Given the description of an element on the screen output the (x, y) to click on. 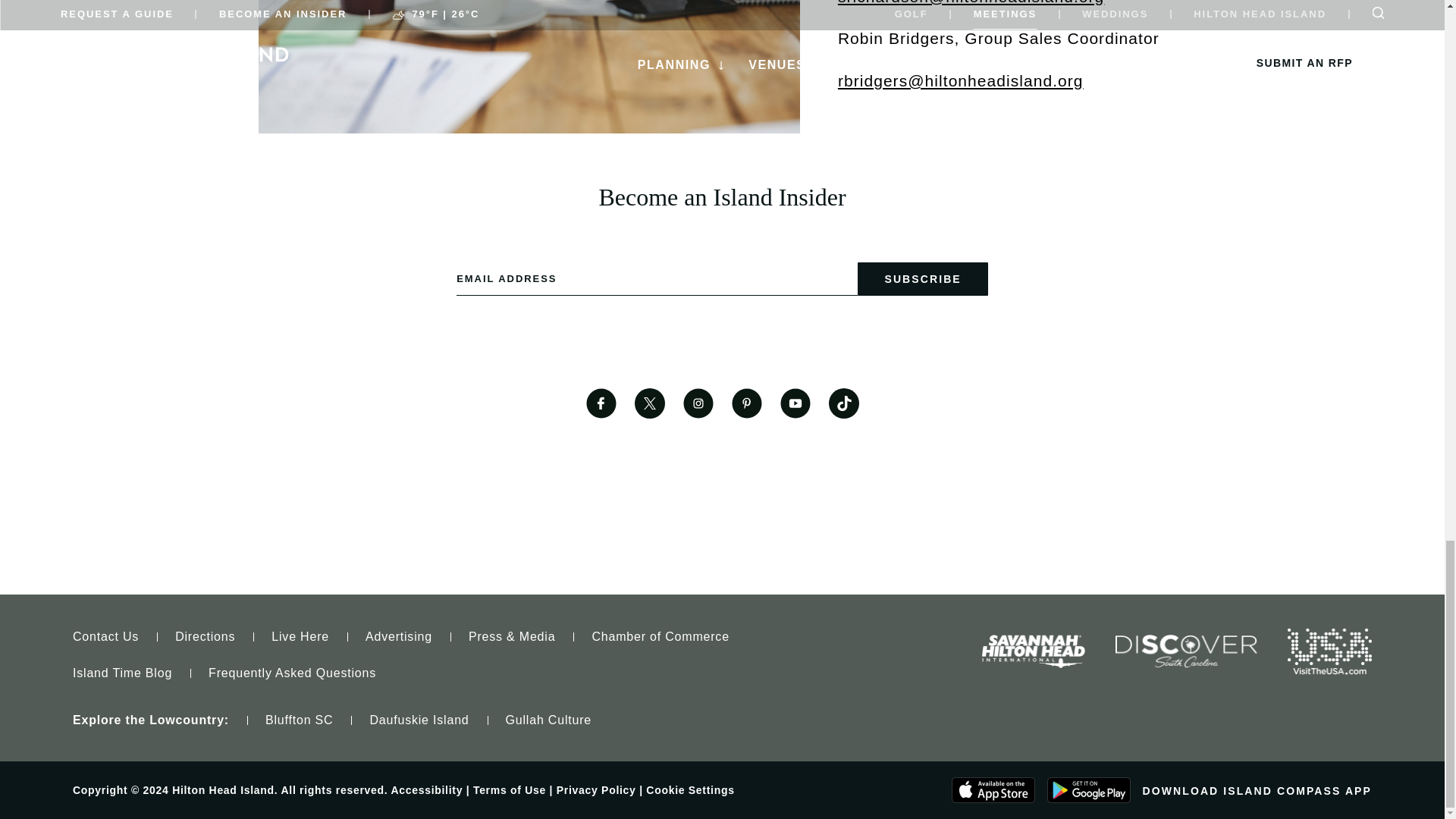
Terms of Use (509, 789)
Privacy Policy (596, 789)
Subscribe (922, 278)
